Given the description of an element on the screen output the (x, y) to click on. 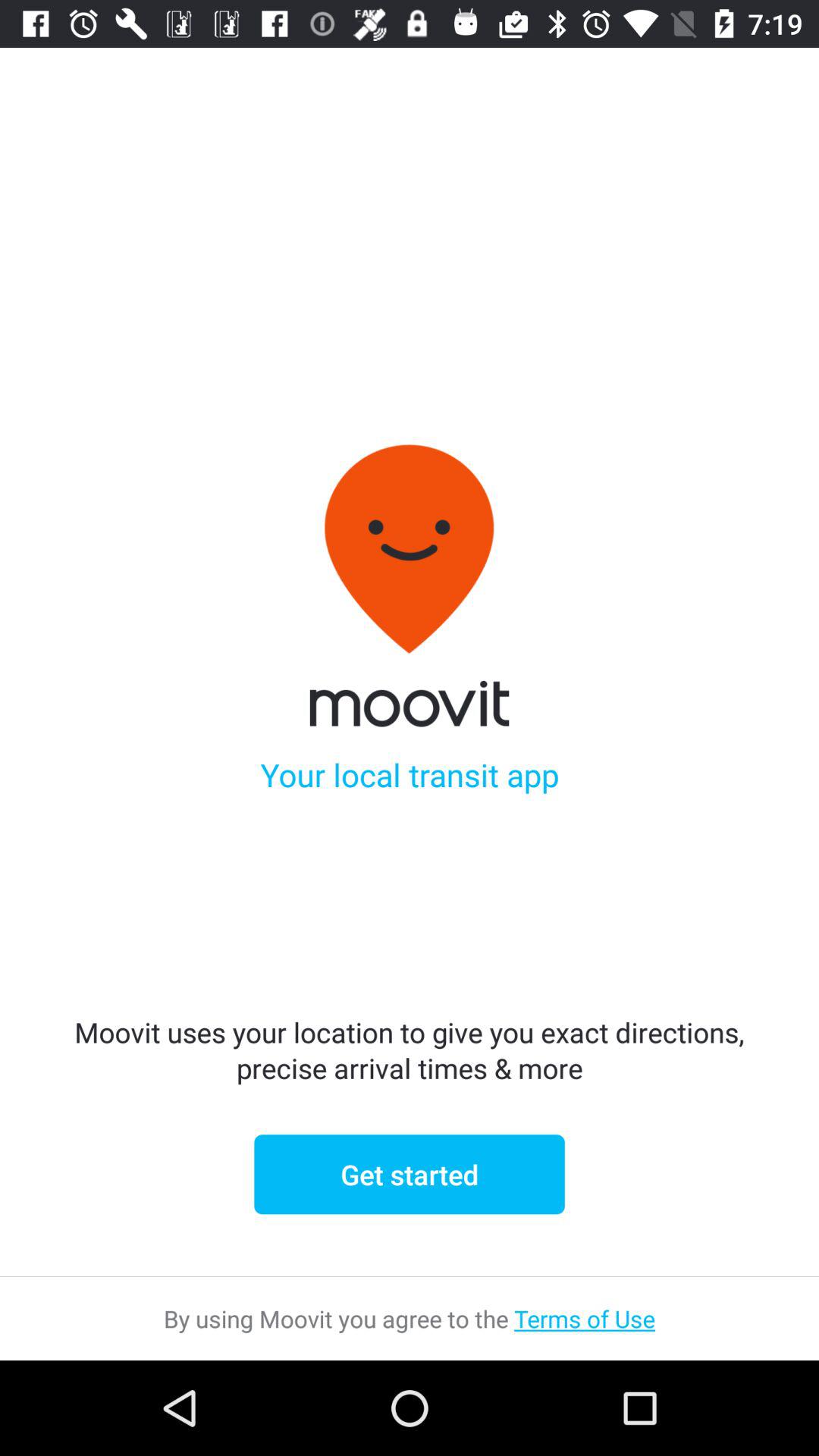
turn on the get started icon (409, 1174)
